Given the description of an element on the screen output the (x, y) to click on. 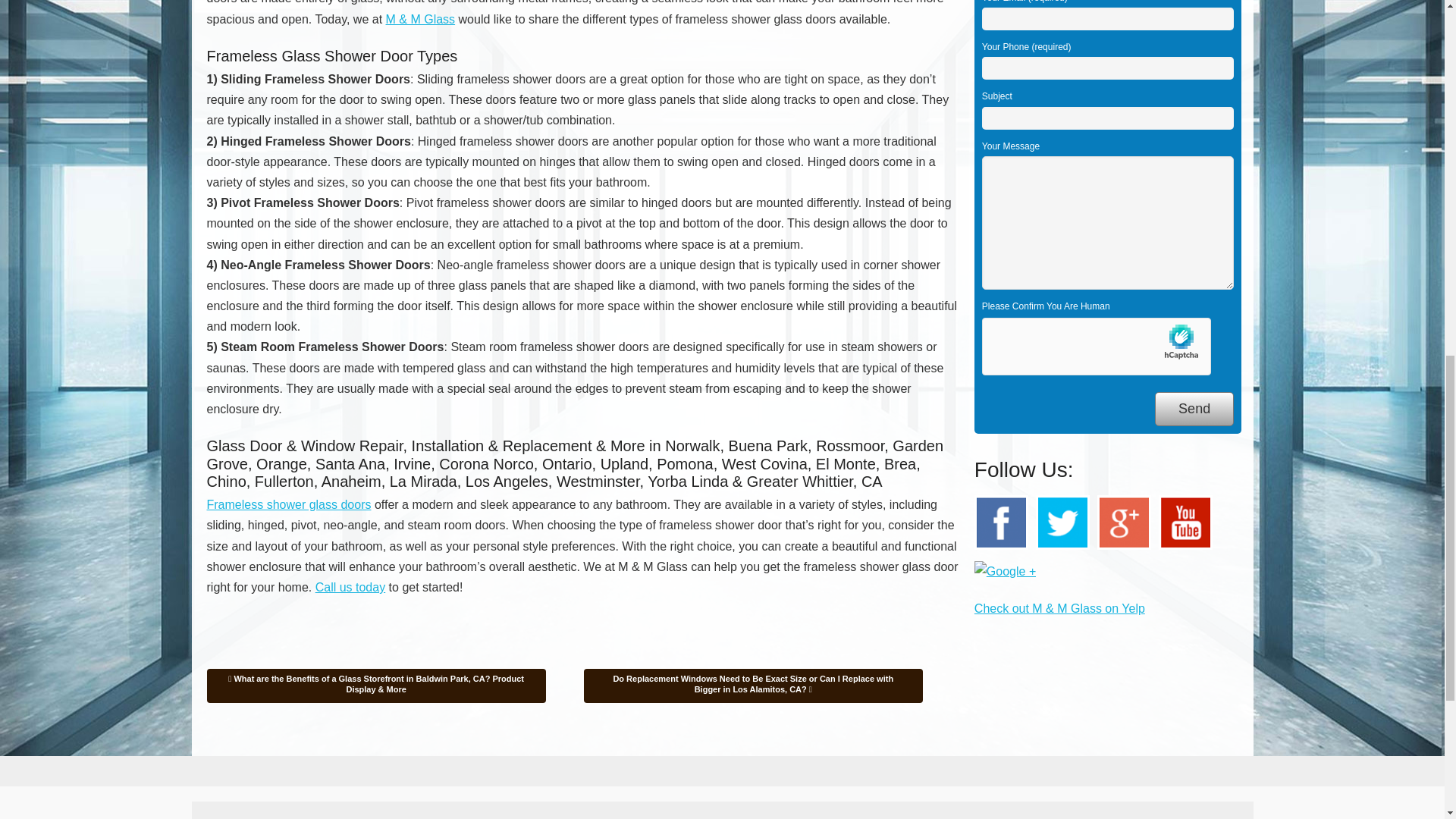
Send (1193, 408)
Send (1193, 408)
Call us today (350, 586)
Frameless shower glass doors (288, 504)
